Given the description of an element on the screen output the (x, y) to click on. 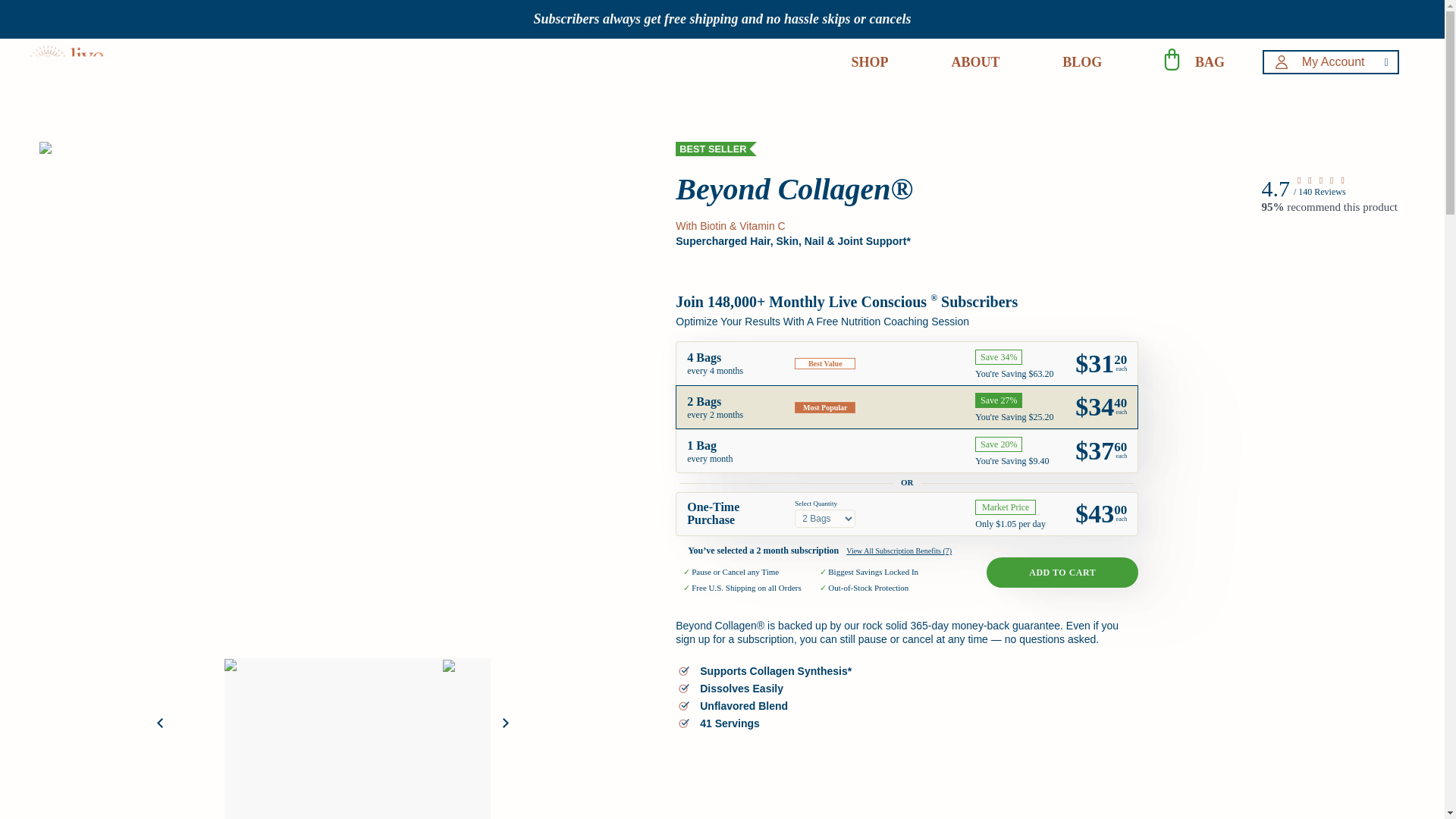
ABOUT (974, 62)
BLOG (1082, 62)
SHOP (869, 62)
ADD TO CART (1062, 572)
BAG (1209, 62)
